Given the description of an element on the screen output the (x, y) to click on. 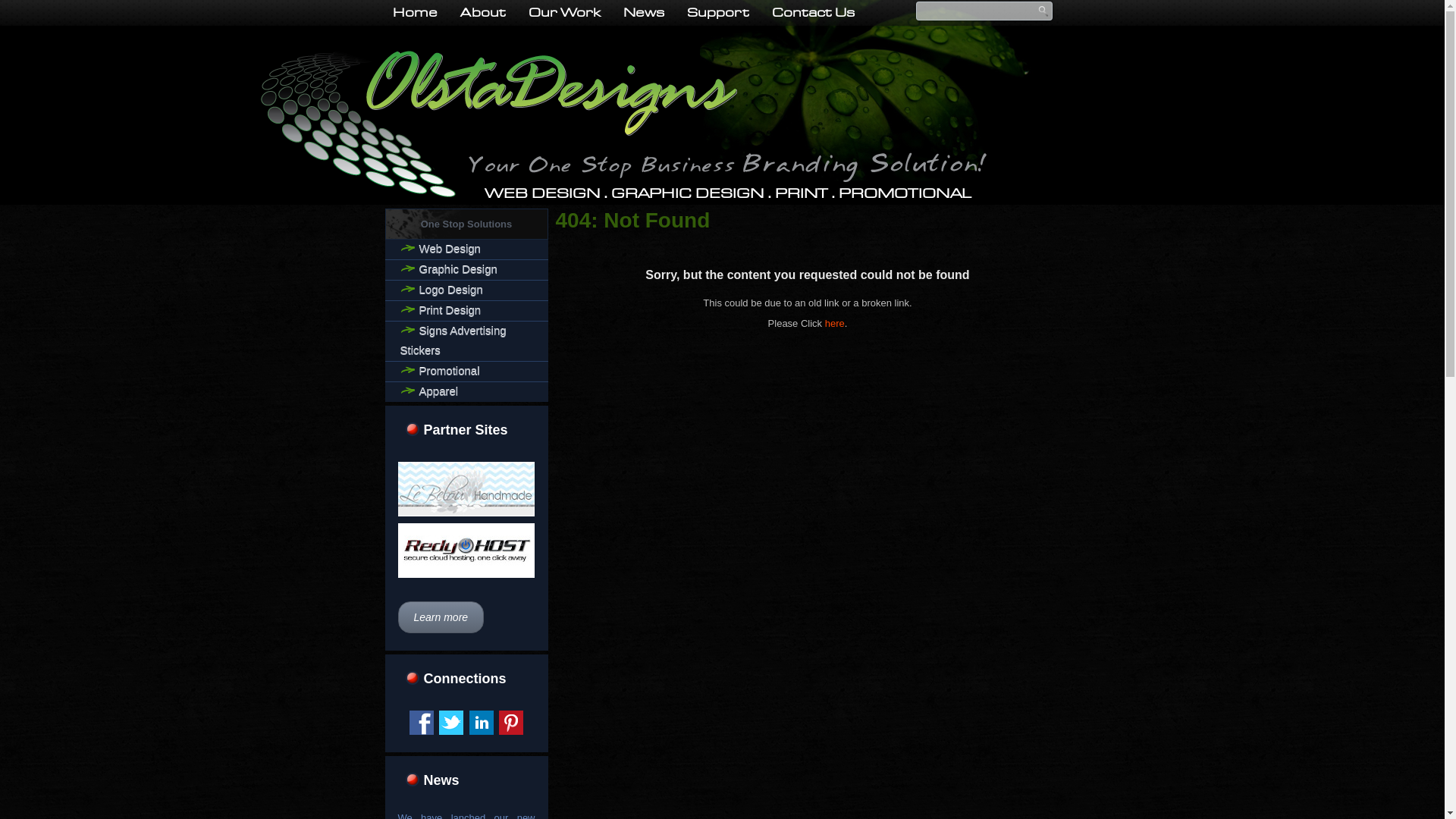
Web Design Element type: text (466, 249)
Contact Us Element type: text (812, 12)
Logo Design Element type: text (466, 290)
Support Element type: text (716, 12)
Learn more Element type: text (440, 617)
Signs Advertising Stickers Element type: text (466, 340)
Promotional Element type: text (466, 371)
Our Work Element type: text (564, 12)
Graphic Design Element type: text (466, 269)
Home Element type: text (414, 12)
About Element type: text (482, 12)
News Element type: text (642, 12)
here Element type: text (834, 323)
Print Design Element type: text (466, 310)
Apparel Element type: text (466, 391)
